Given the description of an element on the screen output the (x, y) to click on. 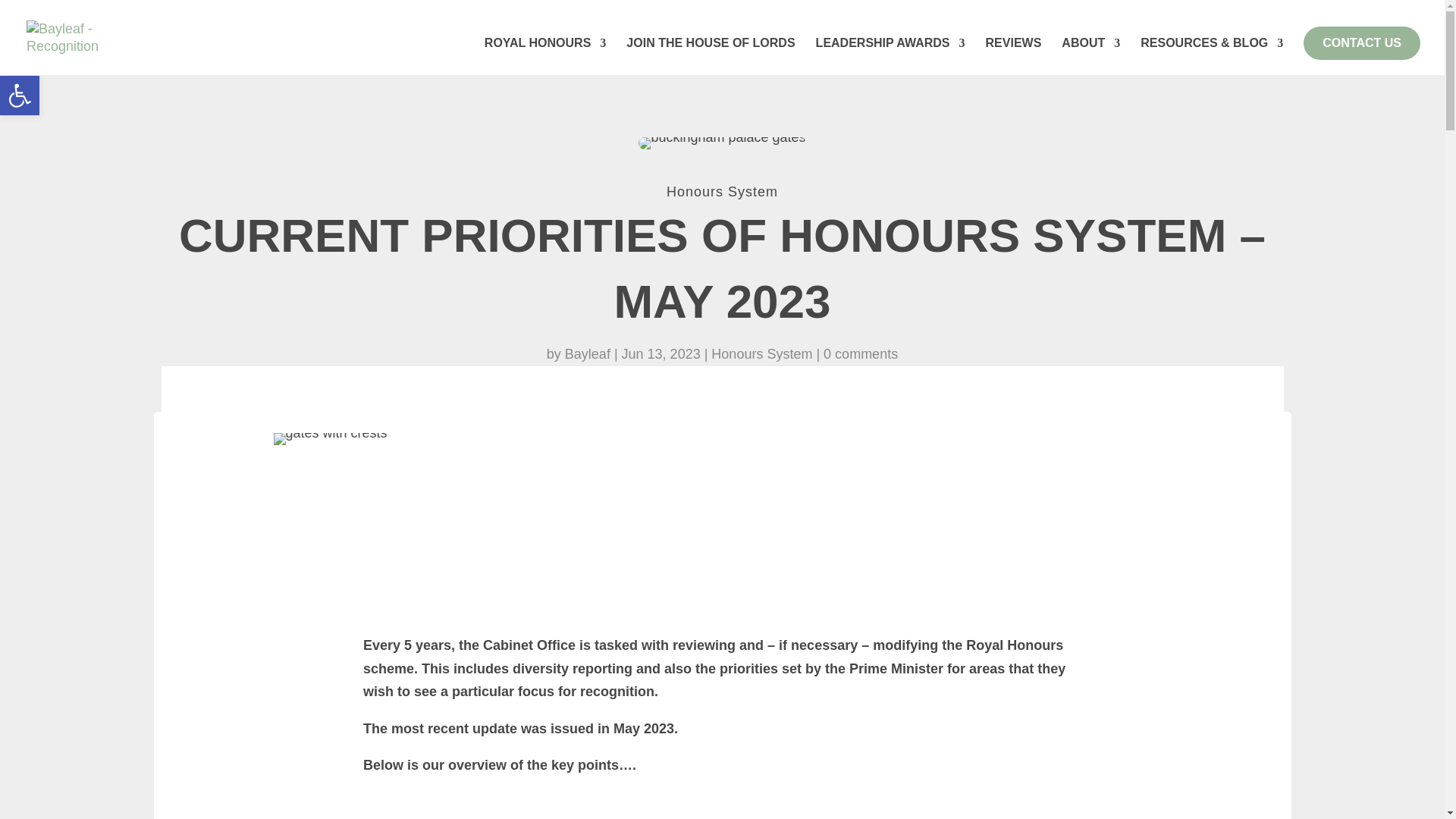
buckingham palace gates (722, 143)
Bayleaf (587, 353)
JOIN THE HOUSE OF LORDS (710, 56)
Accessibility Tools (19, 95)
Honours System (721, 191)
gates with crests (330, 439)
Posts by Bayleaf (587, 353)
ROYAL HONOURS (544, 56)
0 comments (861, 353)
Honours System (761, 353)
